Given the description of an element on the screen output the (x, y) to click on. 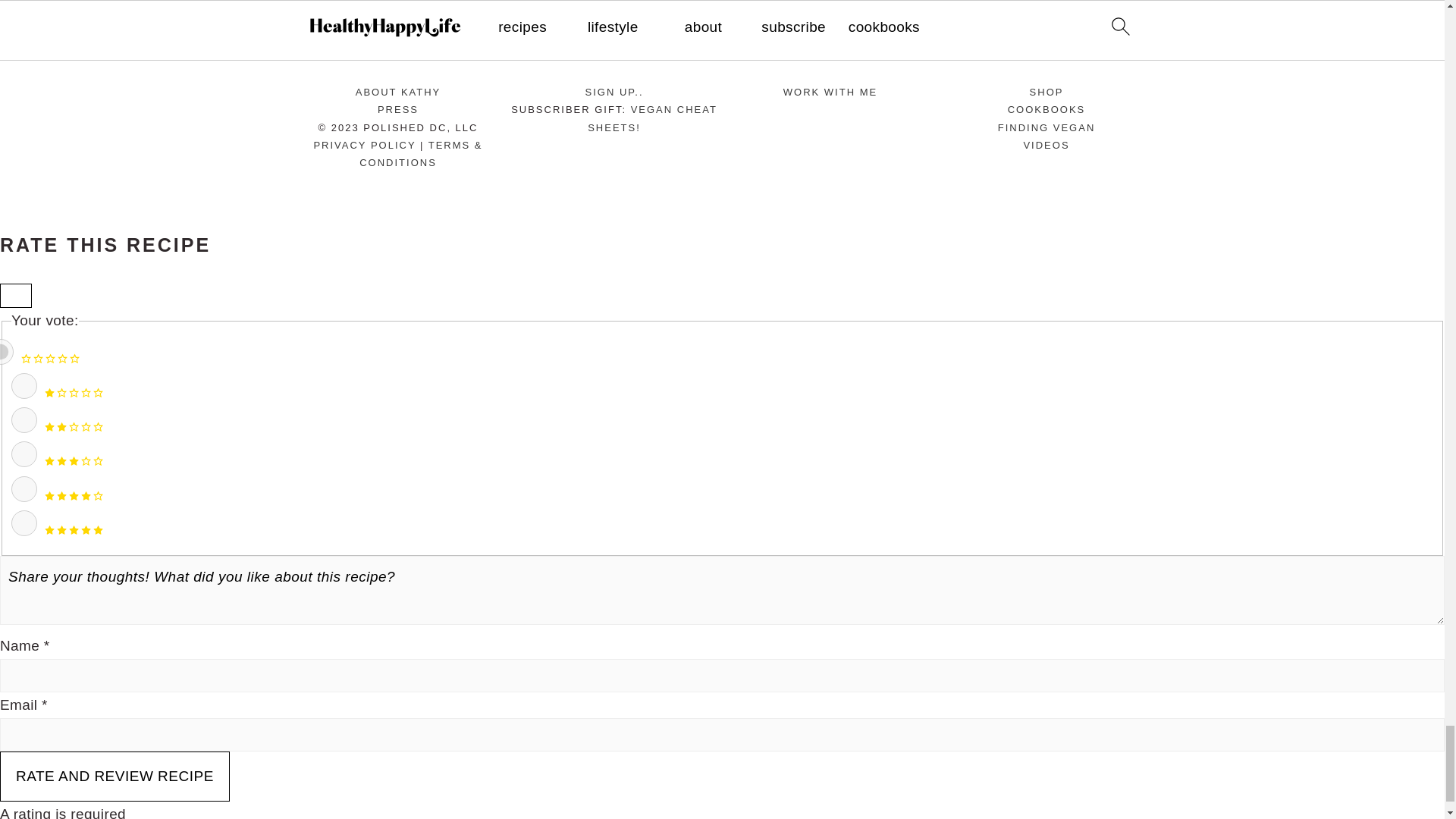
1 (24, 385)
5 (24, 523)
2 (24, 420)
3 (24, 453)
4 (24, 488)
